Given the description of an element on the screen output the (x, y) to click on. 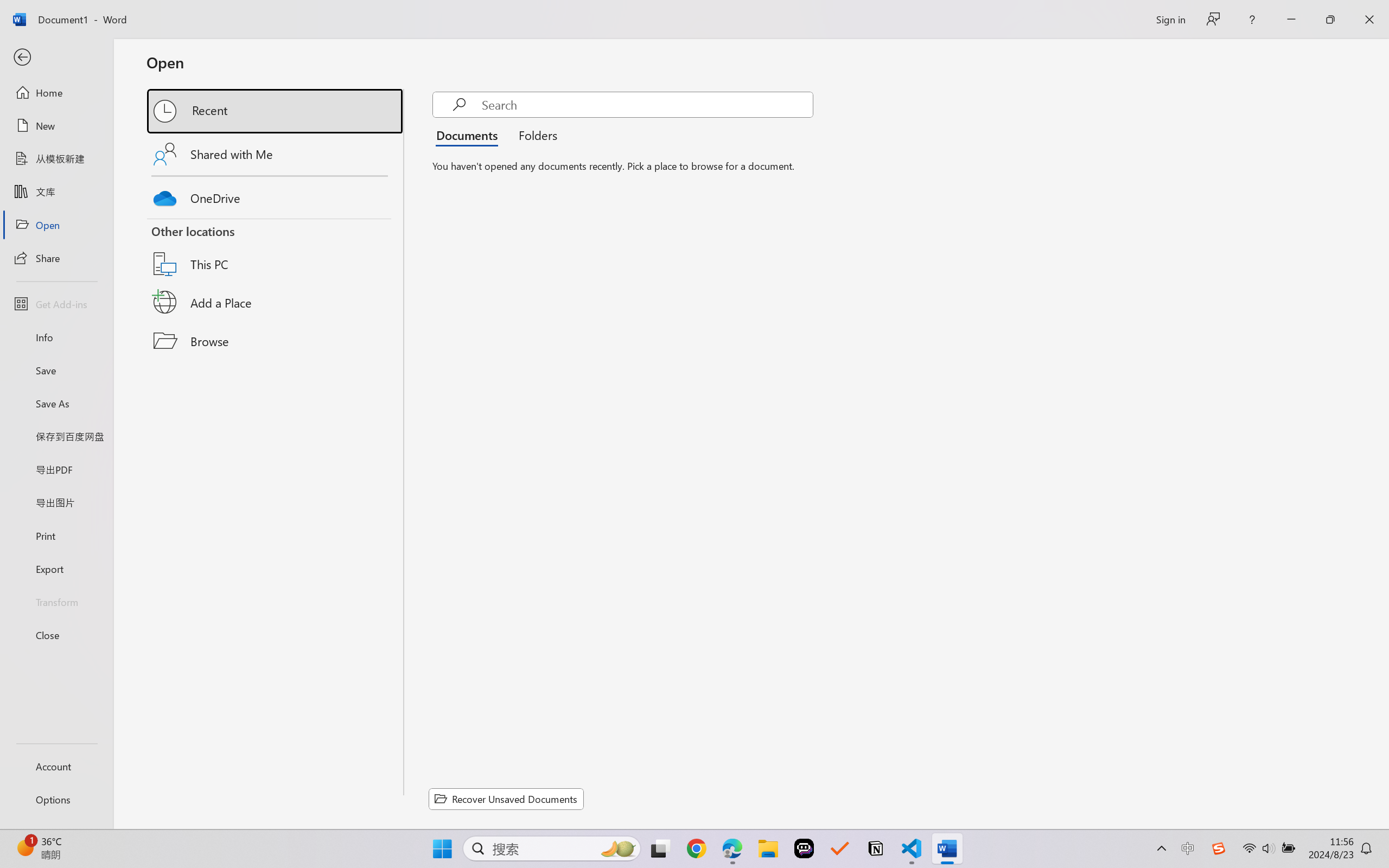
Transform (56, 601)
Back (56, 57)
Print (56, 535)
Add a Place (275, 302)
Sign in (1170, 18)
Documents (469, 134)
Info (56, 337)
New (56, 125)
Recover Unsaved Documents (506, 798)
Browse (275, 340)
